Given the description of an element on the screen output the (x, y) to click on. 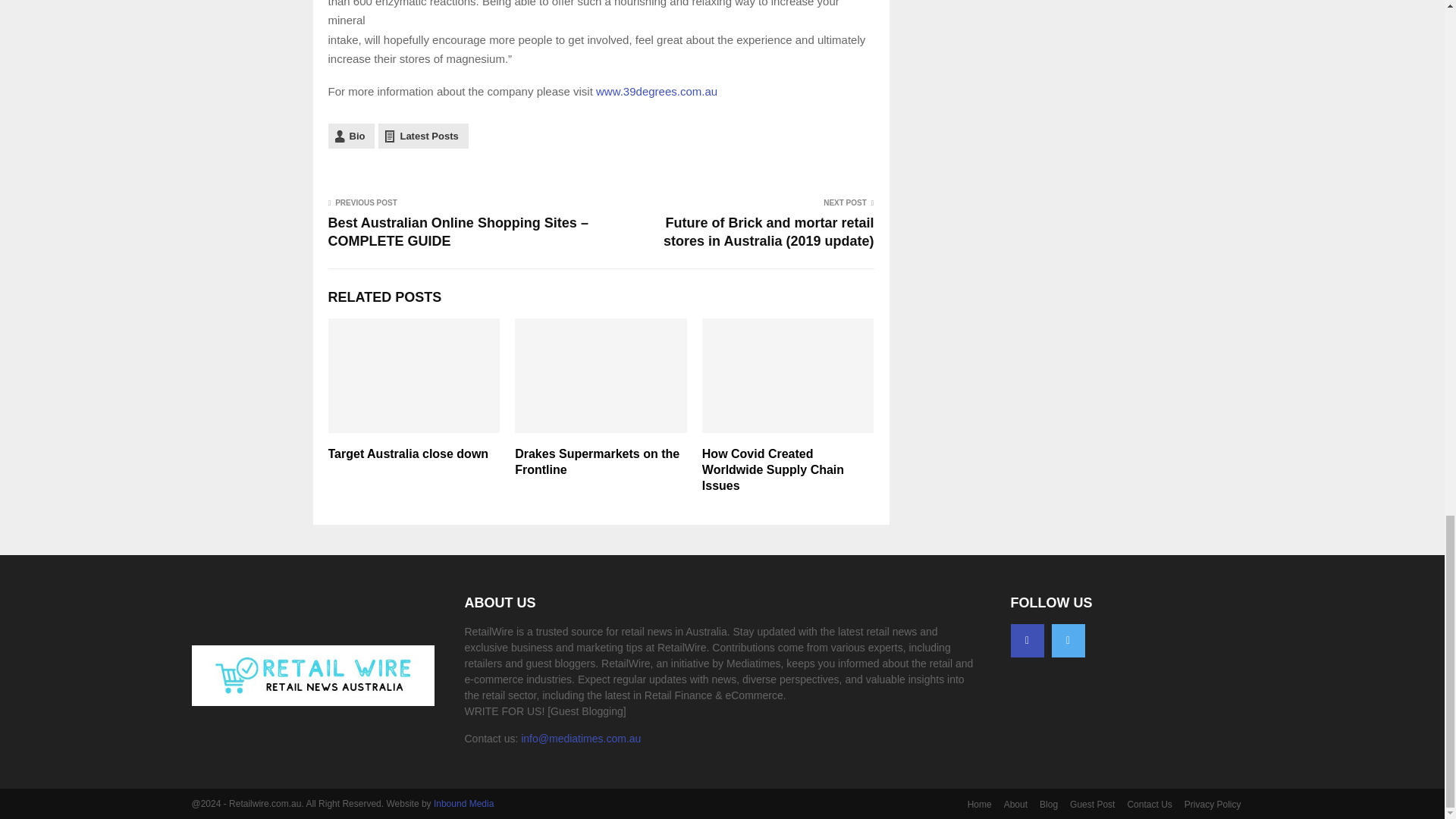
Twitter (1067, 640)
Latest Posts (422, 135)
Drakes Supermarkets on the Frontline (597, 461)
www.39degrees.com.au (656, 91)
Bio (350, 135)
Facebook (1026, 640)
Target Australia close down (407, 453)
